Given the description of an element on the screen output the (x, y) to click on. 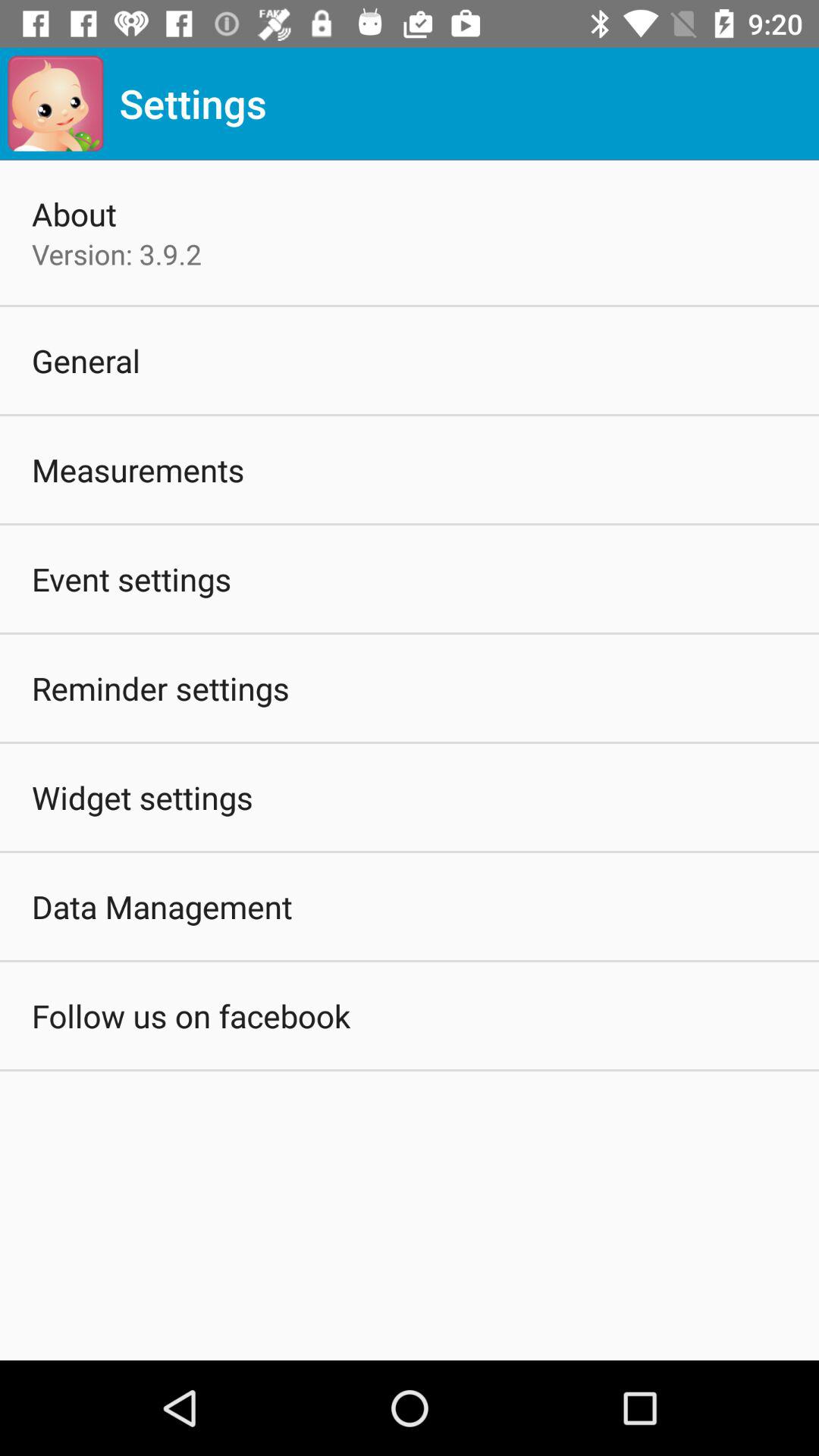
press app next to the settings (55, 103)
